Given the description of an element on the screen output the (x, y) to click on. 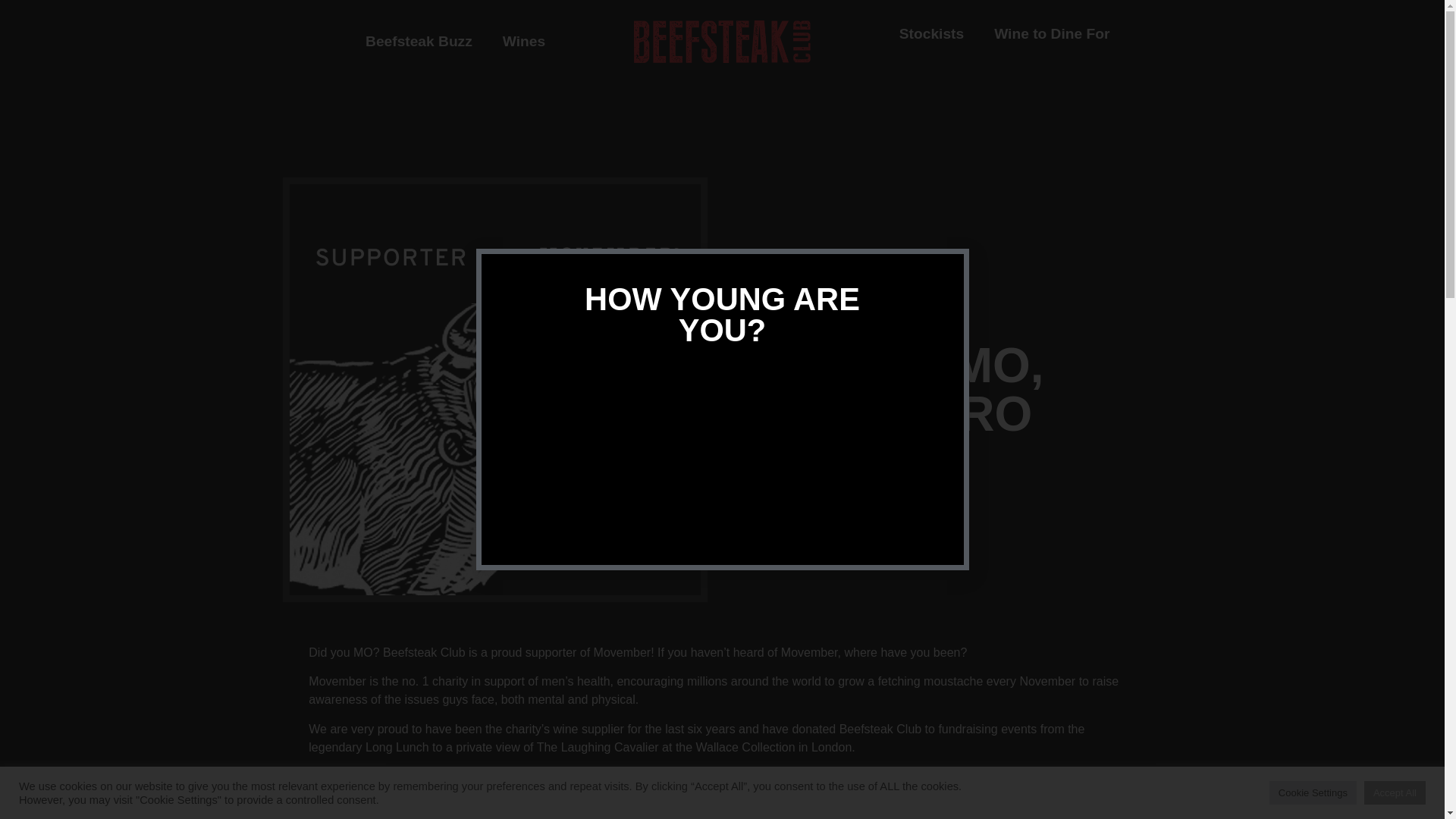
Beefsteak Buzz (418, 41)
Cookie Settings (1312, 792)
Stockists (931, 33)
Movember Conversations (456, 818)
Accept All (1394, 792)
Wine to Dine For (1051, 33)
Team Beefsteak Club fundraising page (751, 775)
Wines (523, 41)
